Given the description of an element on the screen output the (x, y) to click on. 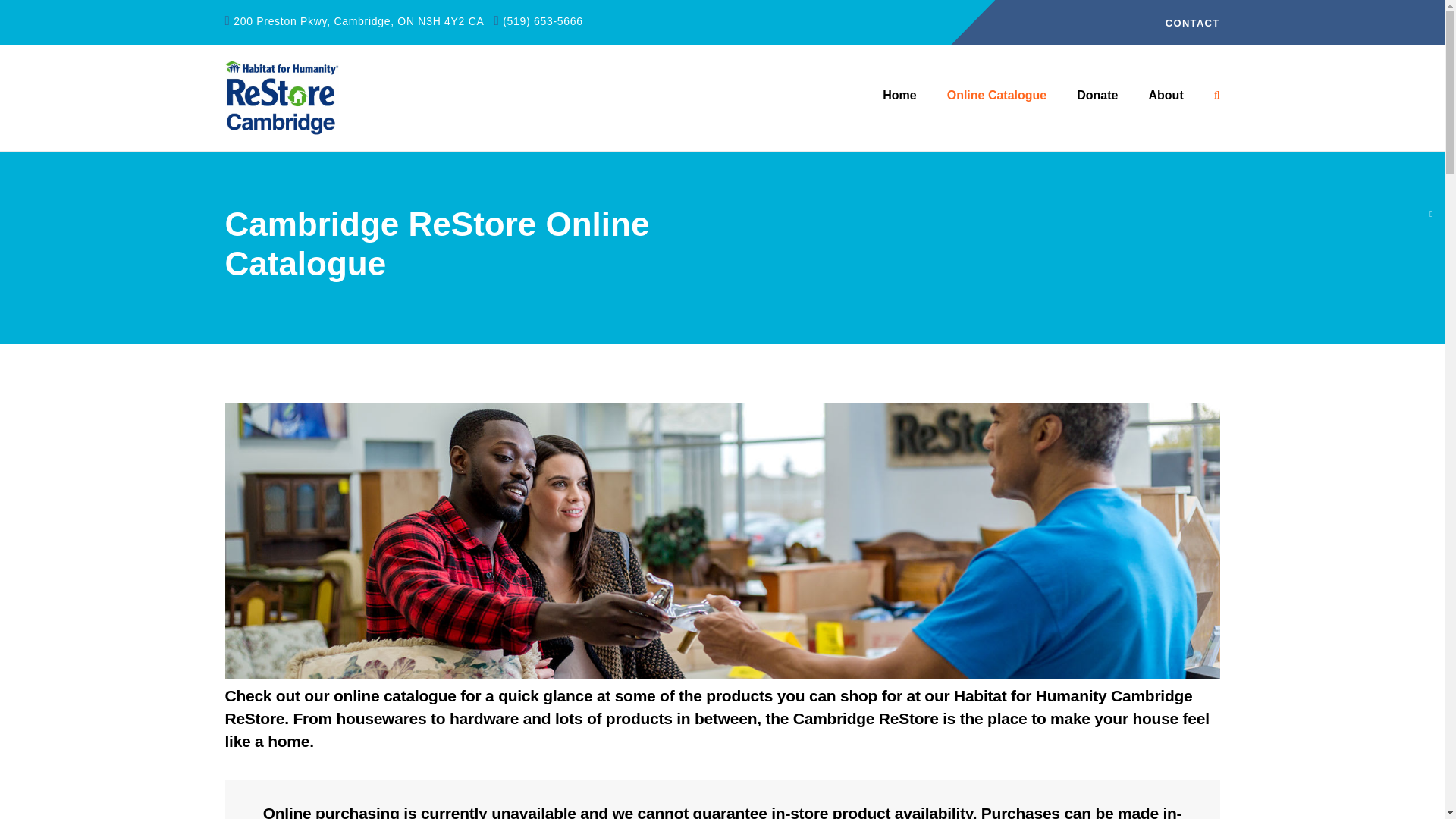
Online Catalogue (996, 95)
CONTACT (1193, 23)
About Our Organization (1165, 95)
Home (899, 95)
Habitat for Humanity Waterloo Region (899, 95)
Donate to Habitat for Humanity Waterloo Region ReStore (1096, 95)
About (1165, 95)
Donate (1096, 95)
Take a look at our Cambridge ReStore online catalogue (996, 95)
